Given the description of an element on the screen output the (x, y) to click on. 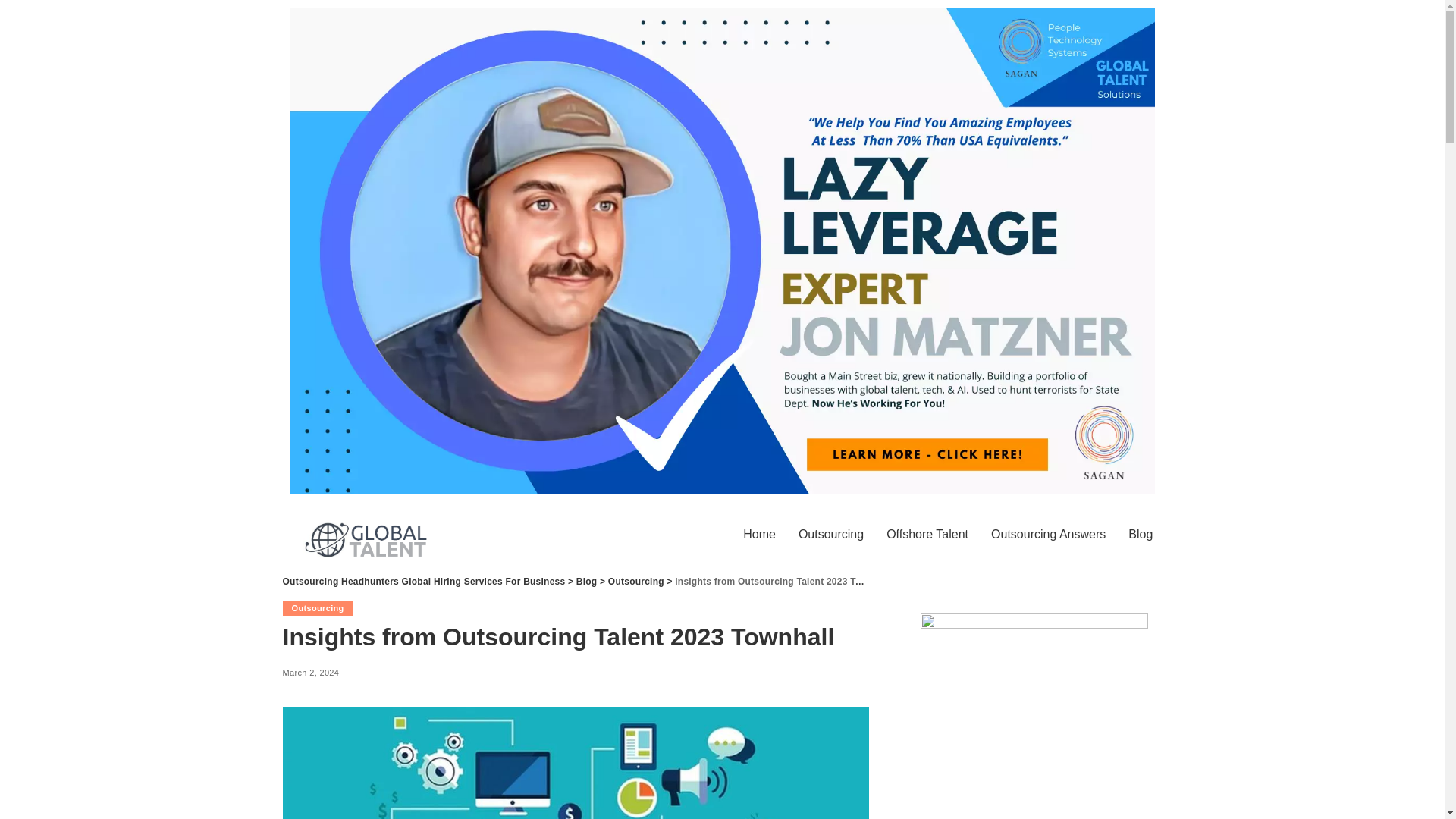
Outsourcing (317, 607)
2024-03-02T00:46:20-05:00 (310, 672)
Blog (586, 581)
Outsourcing (635, 581)
Go to Blog. (586, 581)
Outsourcing (831, 534)
Go to the Outsourcing Category archives. (635, 581)
Outsourcing Headhunters Global Hiring Services For Business (423, 581)
Offshore Talent (927, 534)
Blog (1139, 534)
Home (759, 534)
Outsourcing Answers (1047, 534)
